Given the description of an element on the screen output the (x, y) to click on. 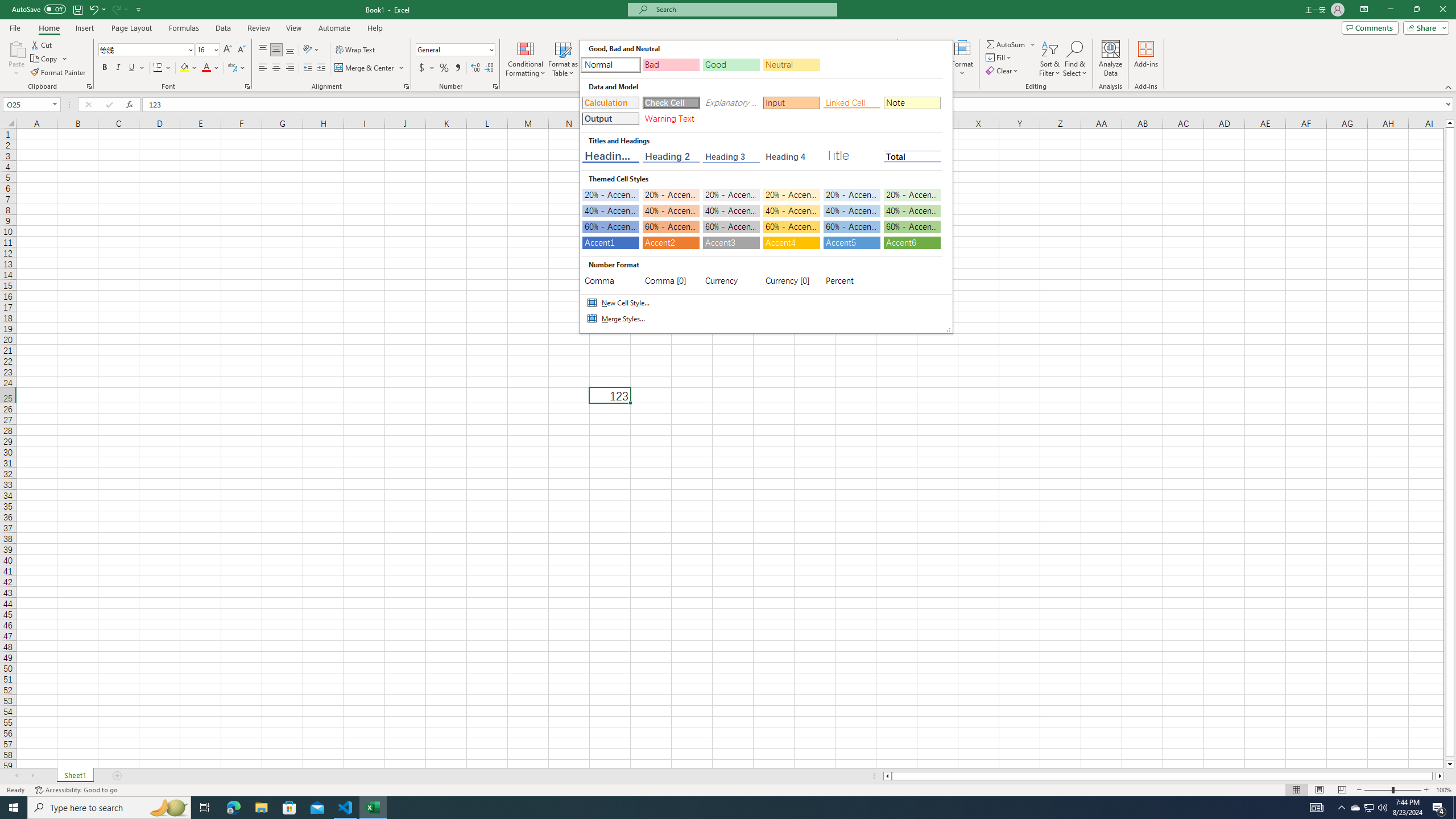
Font Color RGB(255, 0, 0) (206, 67)
Increase Font Size (227, 49)
Font Size (204, 49)
Center (276, 67)
Accounting Number Format (422, 67)
Accounting Number Format (426, 67)
Office Clipboard... (88, 85)
Borders (162, 67)
Paste (16, 48)
Copy (45, 58)
